Given the description of an element on the screen output the (x, y) to click on. 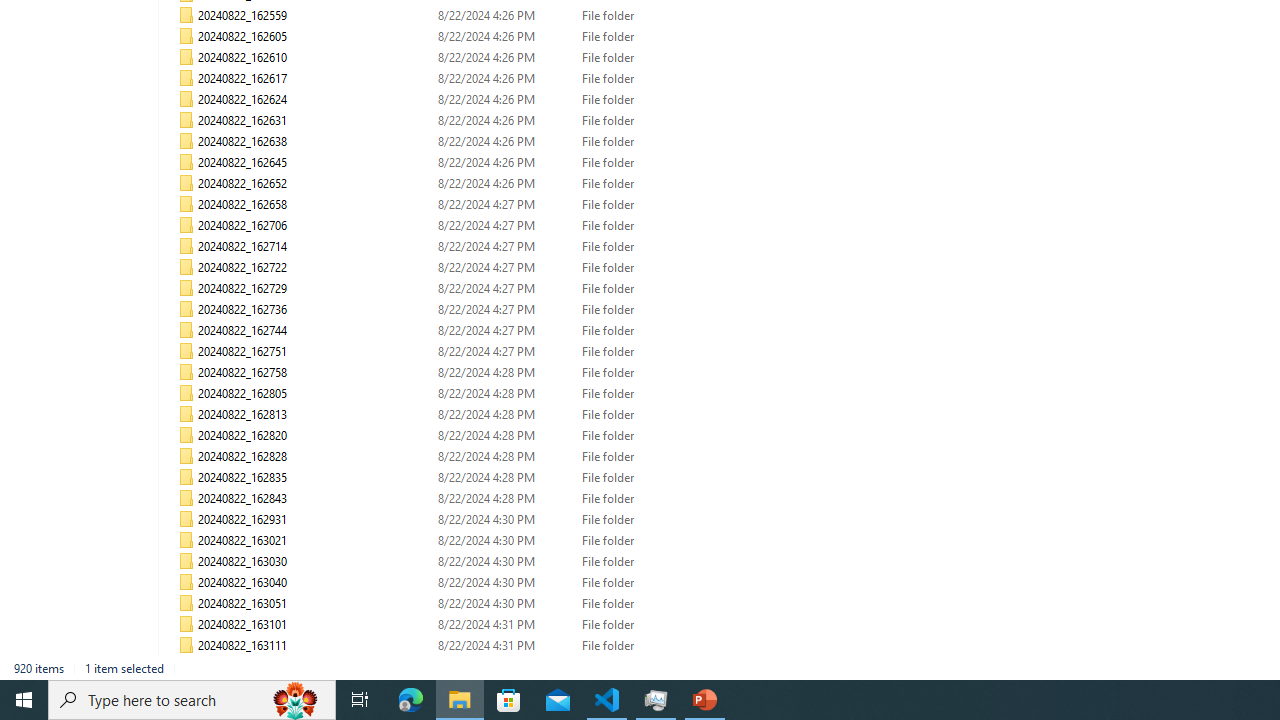
20240822_162751 (472, 351)
20240822_162828 (472, 456)
20240822_162843 (472, 498)
20240822_162931 (472, 520)
20240822_162610 (472, 57)
20240822_162559 (472, 16)
20240822_163051 (472, 603)
Date modified (504, 666)
20240822_162658 (472, 204)
20240822_162758 (472, 372)
20240822_163021 (472, 540)
20240822_162813 (472, 414)
20240822_163536 (472, 666)
20240822_162805 (472, 393)
20240822_162638 (472, 141)
